Given the description of an element on the screen output the (x, y) to click on. 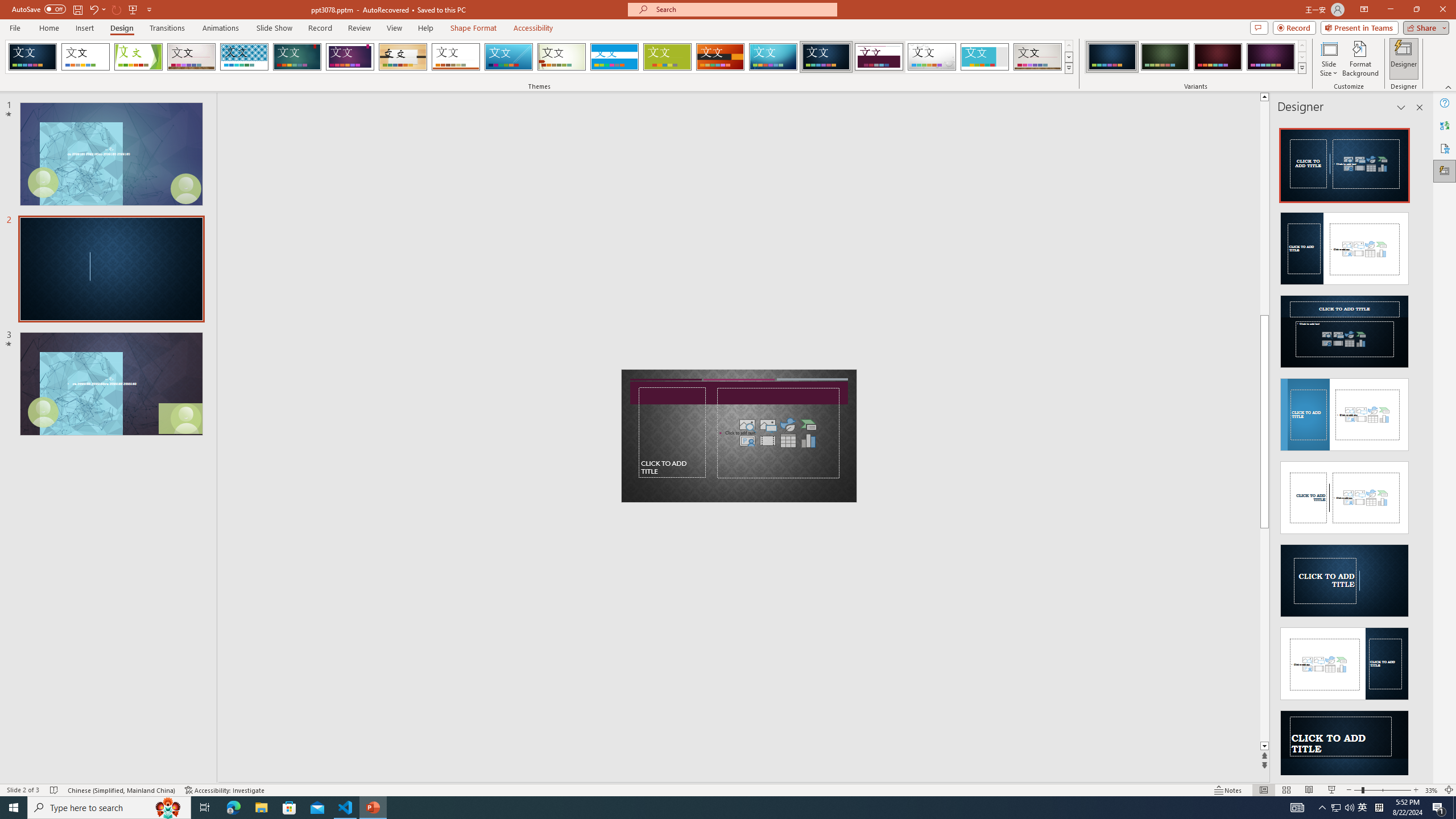
Task Pane Options (1400, 107)
Redo (117, 9)
Animations (220, 28)
AutomationID: SlideThemesGallery (539, 56)
Office Theme (85, 56)
Variants (1301, 67)
Insert Chart (808, 440)
Comments (1259, 27)
Gallery (1037, 56)
Class: NetUIScrollBar (1418, 447)
Ribbon Display Options (1364, 9)
Page up (1264, 207)
Basis (667, 56)
From Beginning (133, 9)
